Given the description of an element on the screen output the (x, y) to click on. 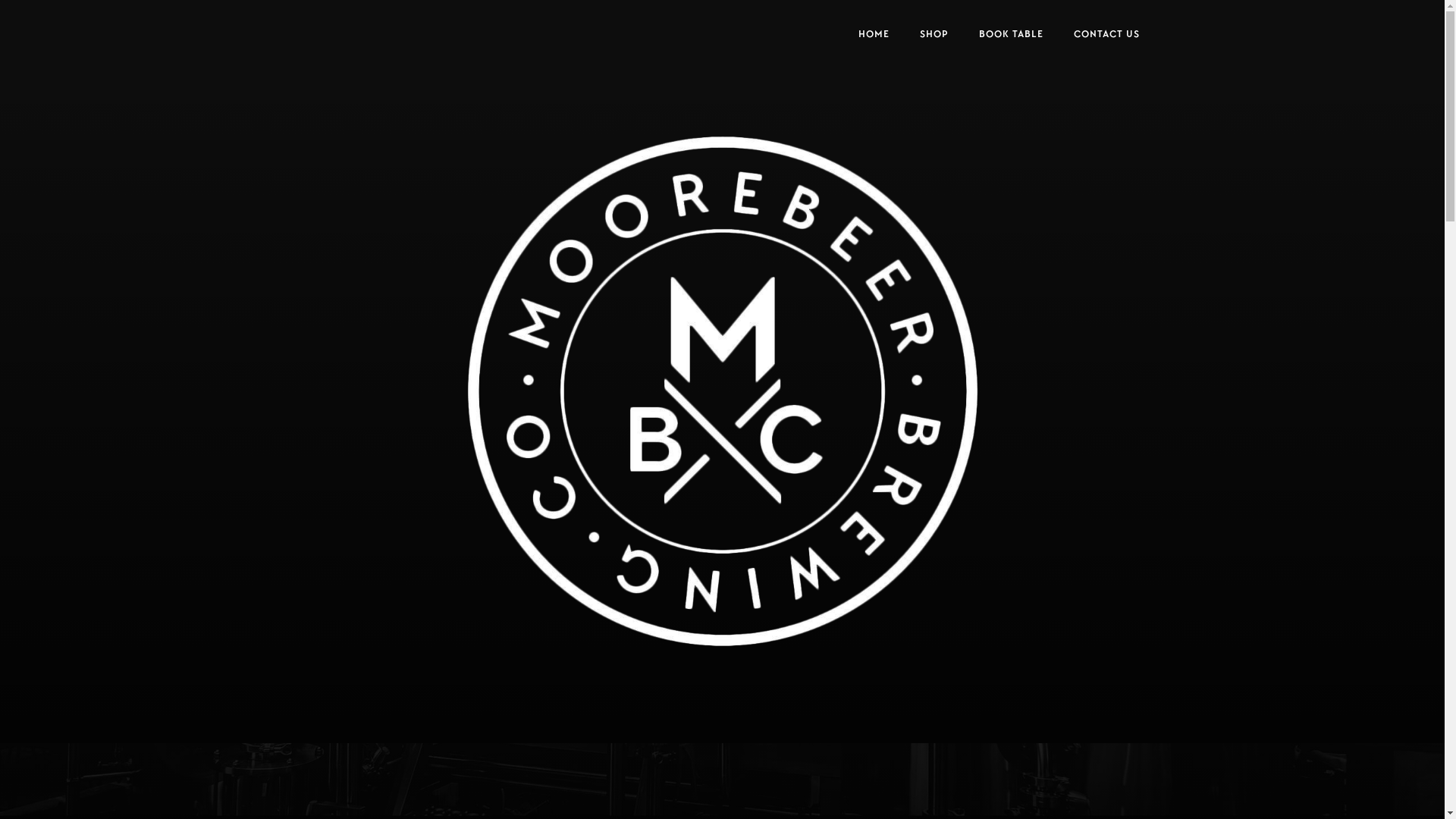
HOME Element type: text (873, 35)
SHOP Element type: text (933, 35)
CONTACT US Element type: text (1106, 35)
BOOK TABLE Element type: text (1010, 35)
